Given the description of an element on the screen output the (x, y) to click on. 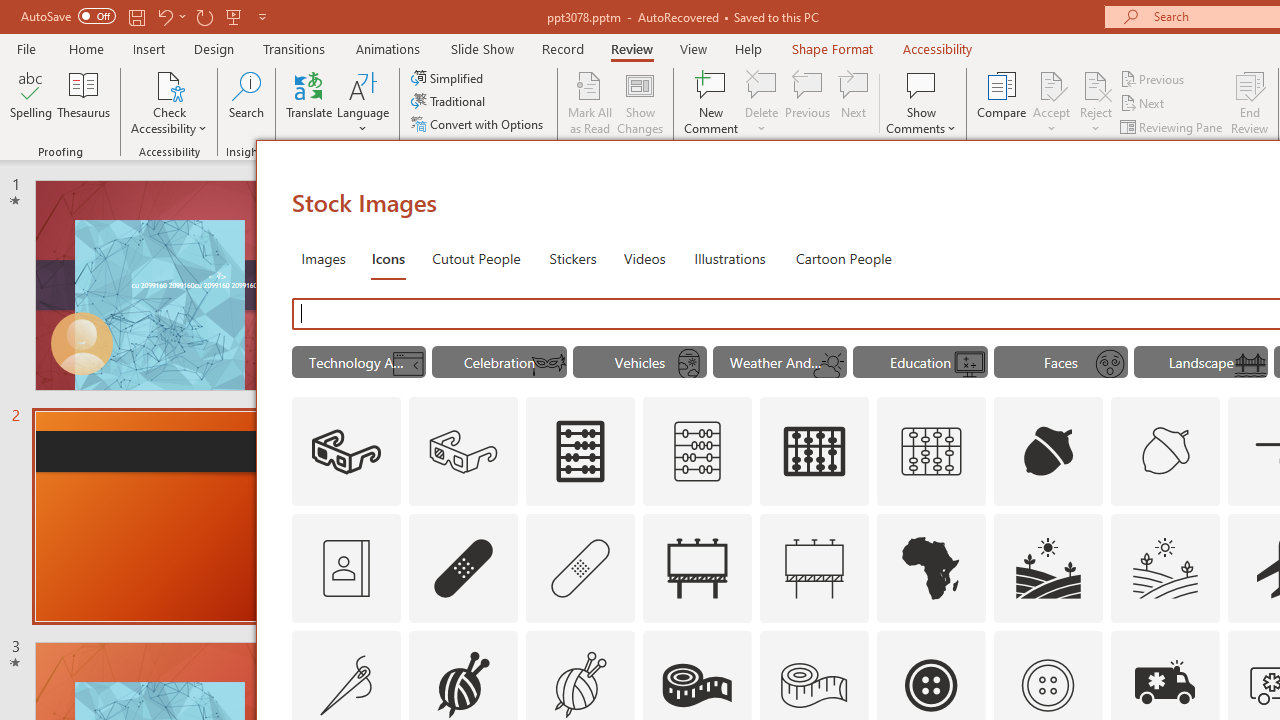
AutomationID: Icons_AdhesiveBandage_M (580, 568)
Reviewing Pane (1172, 126)
AutomationID: Icons_Agriculture (1048, 568)
AutomationID: Icons_BridgeScene_M (1249, 364)
"Faces" Icons. (1060, 362)
Cartoon People (843, 258)
AutomationID: Icons_Advertising (697, 568)
"Celebration" Icons. (499, 362)
Show Changes (639, 102)
